Given the description of an element on the screen output the (x, y) to click on. 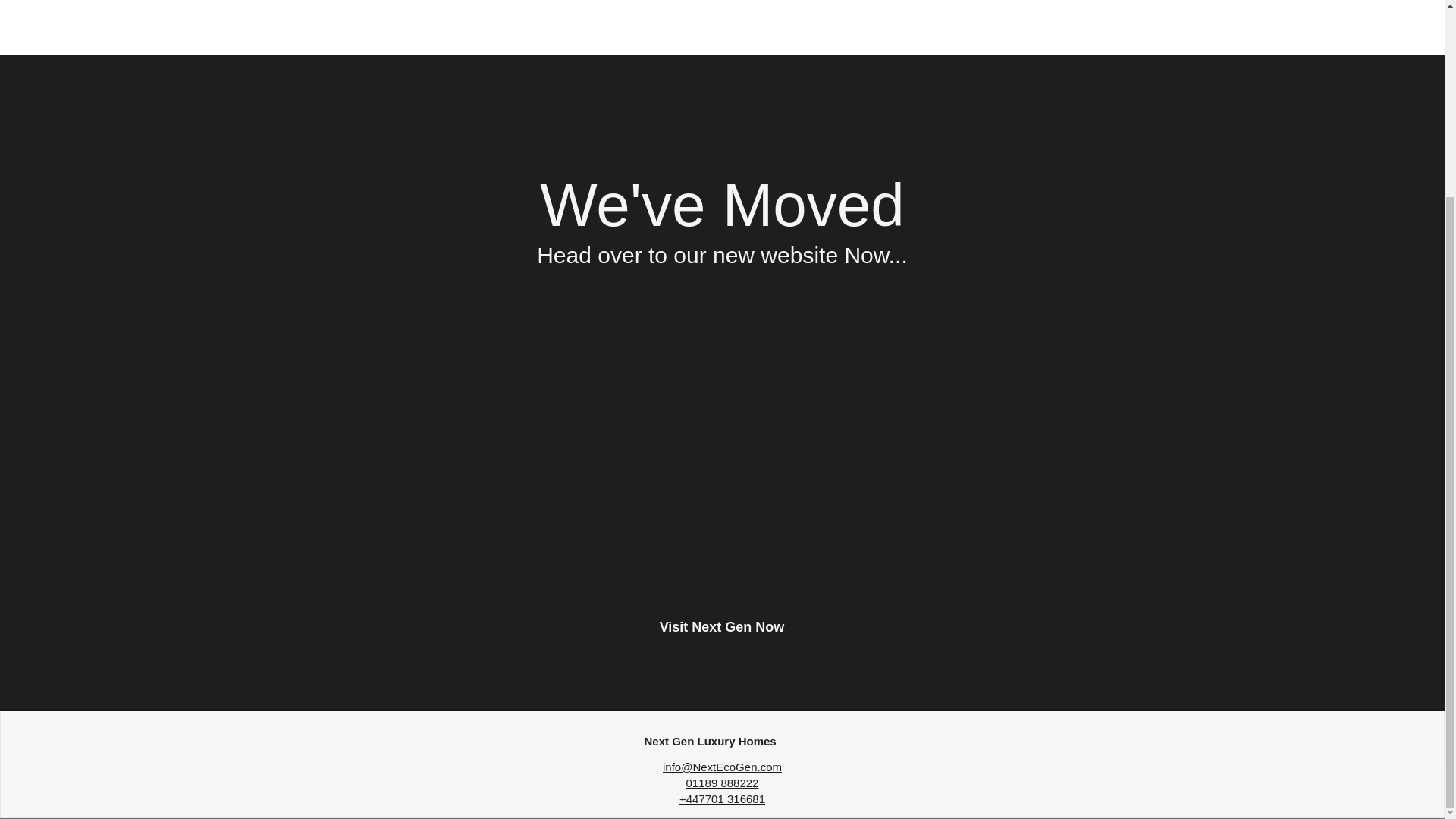
Visit Next Gen Now (721, 627)
